Given the description of an element on the screen output the (x, y) to click on. 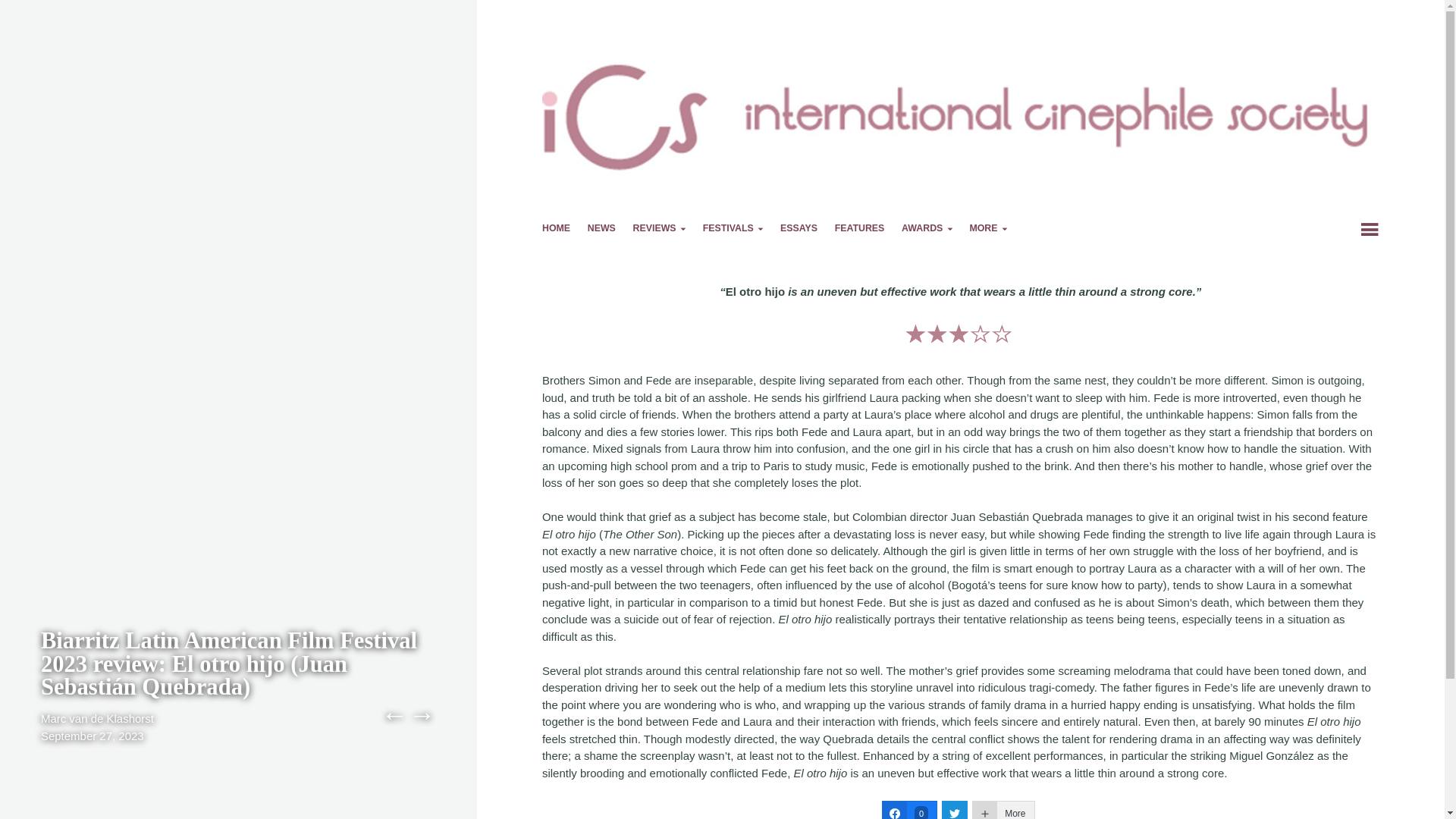
September 27, 2023 (92, 735)
Skip to content (582, 229)
REVIEWS (659, 230)
10:12 (92, 735)
Marc van de Klashorst (97, 717)
FESTIVALS (732, 230)
View all posts by Marc van de Klashorst (97, 717)
HOME (555, 230)
Skip to content (582, 229)
NEWS (601, 230)
